Given the description of an element on the screen output the (x, y) to click on. 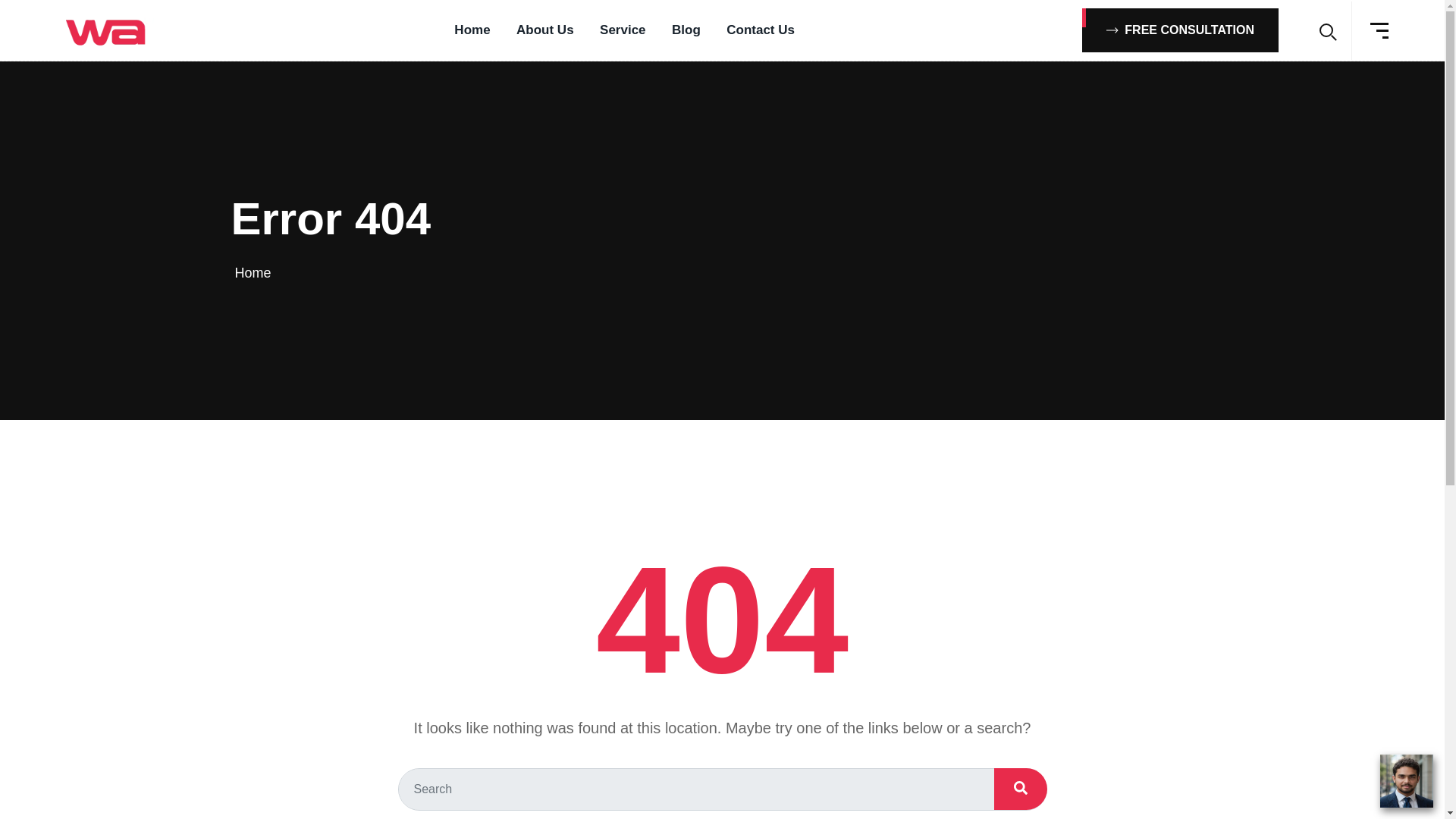
Contact Us (760, 30)
About Us (544, 30)
Home (252, 272)
FREE CONSULTATION (1179, 30)
